Given the description of an element on the screen output the (x, y) to click on. 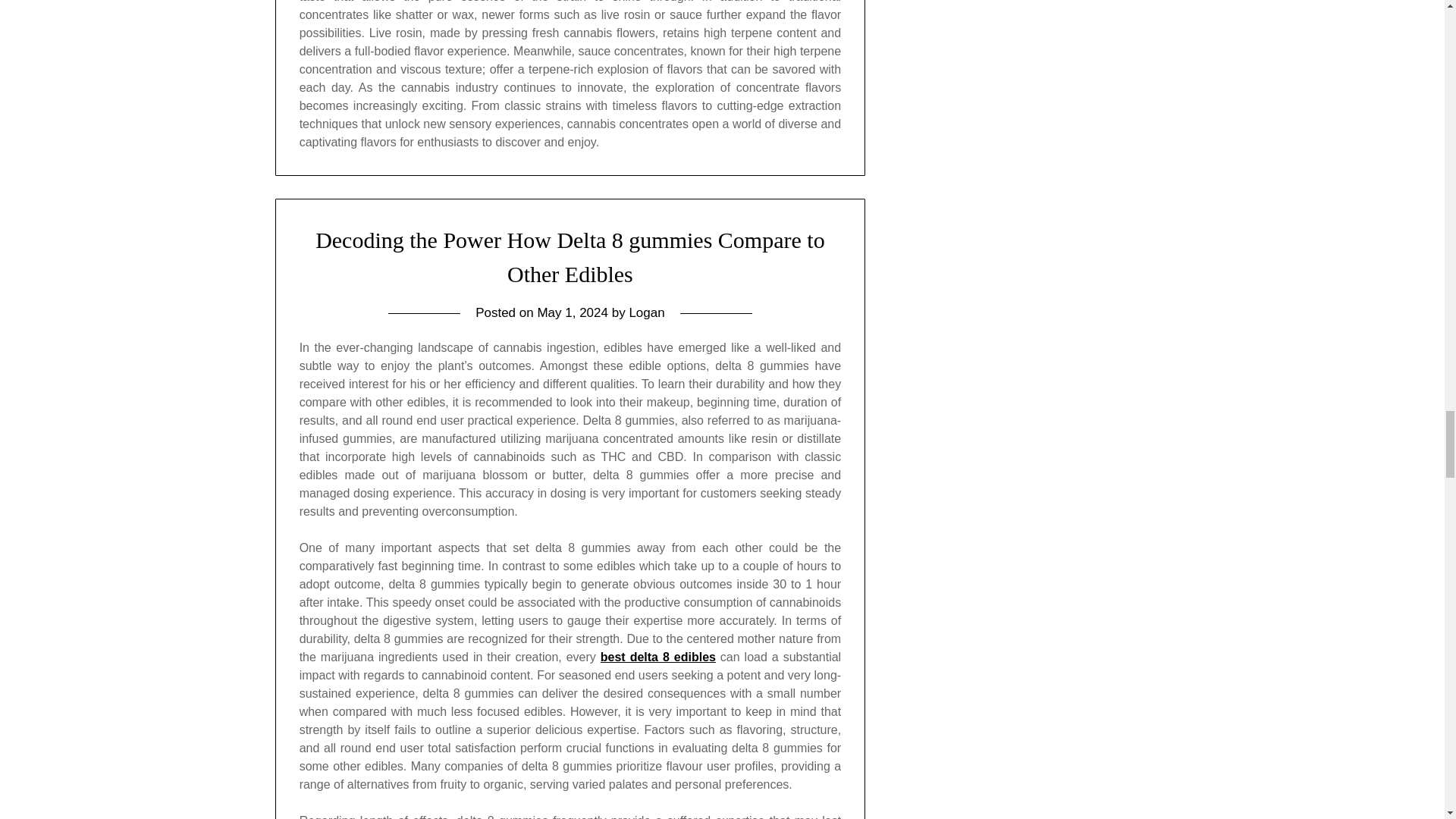
May 1, 2024 (572, 312)
best delta 8 edibles (657, 656)
Logan (645, 312)
